Given the description of an element on the screen output the (x, y) to click on. 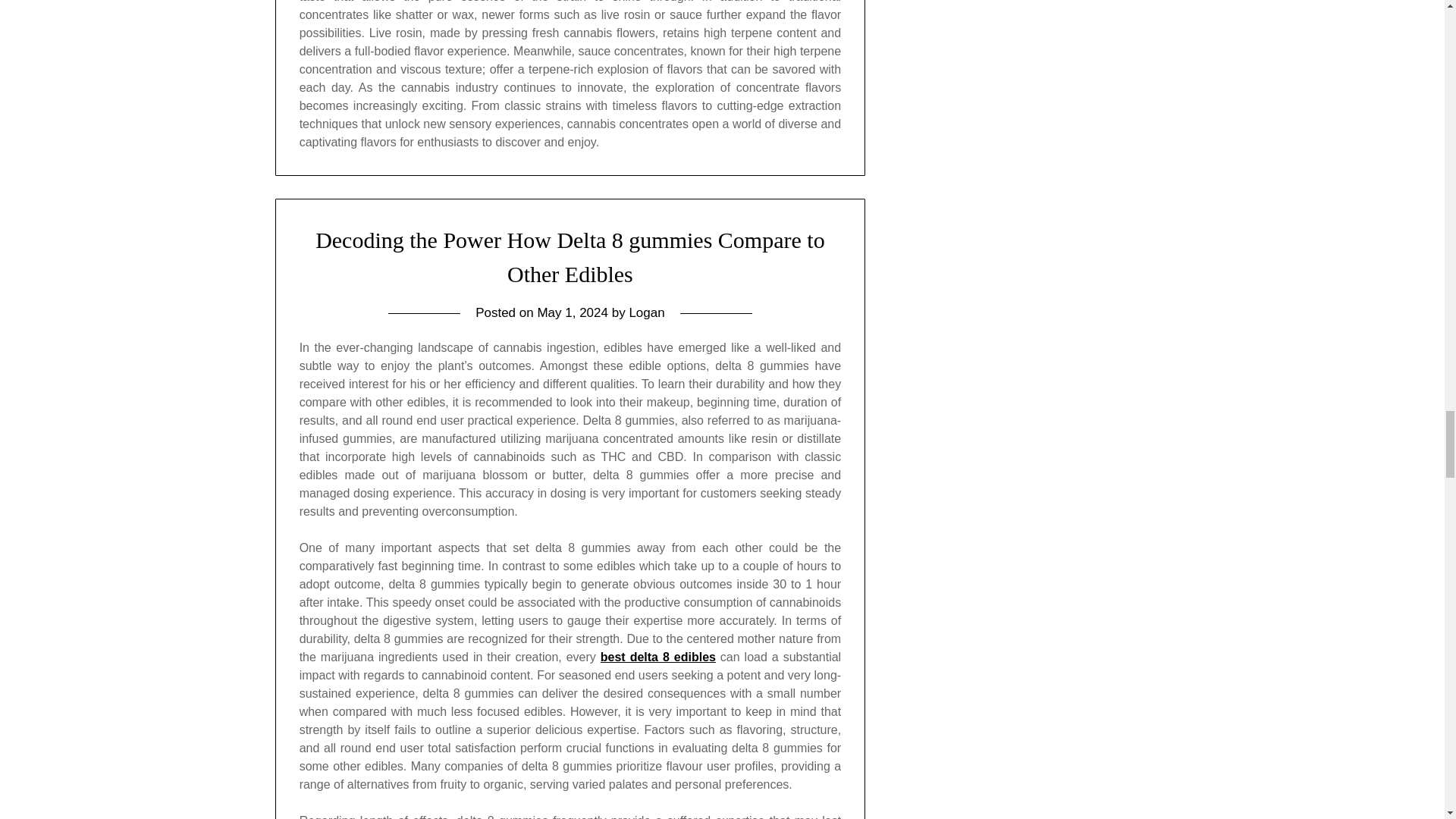
May 1, 2024 (572, 312)
best delta 8 edibles (657, 656)
Logan (645, 312)
